Given the description of an element on the screen output the (x, y) to click on. 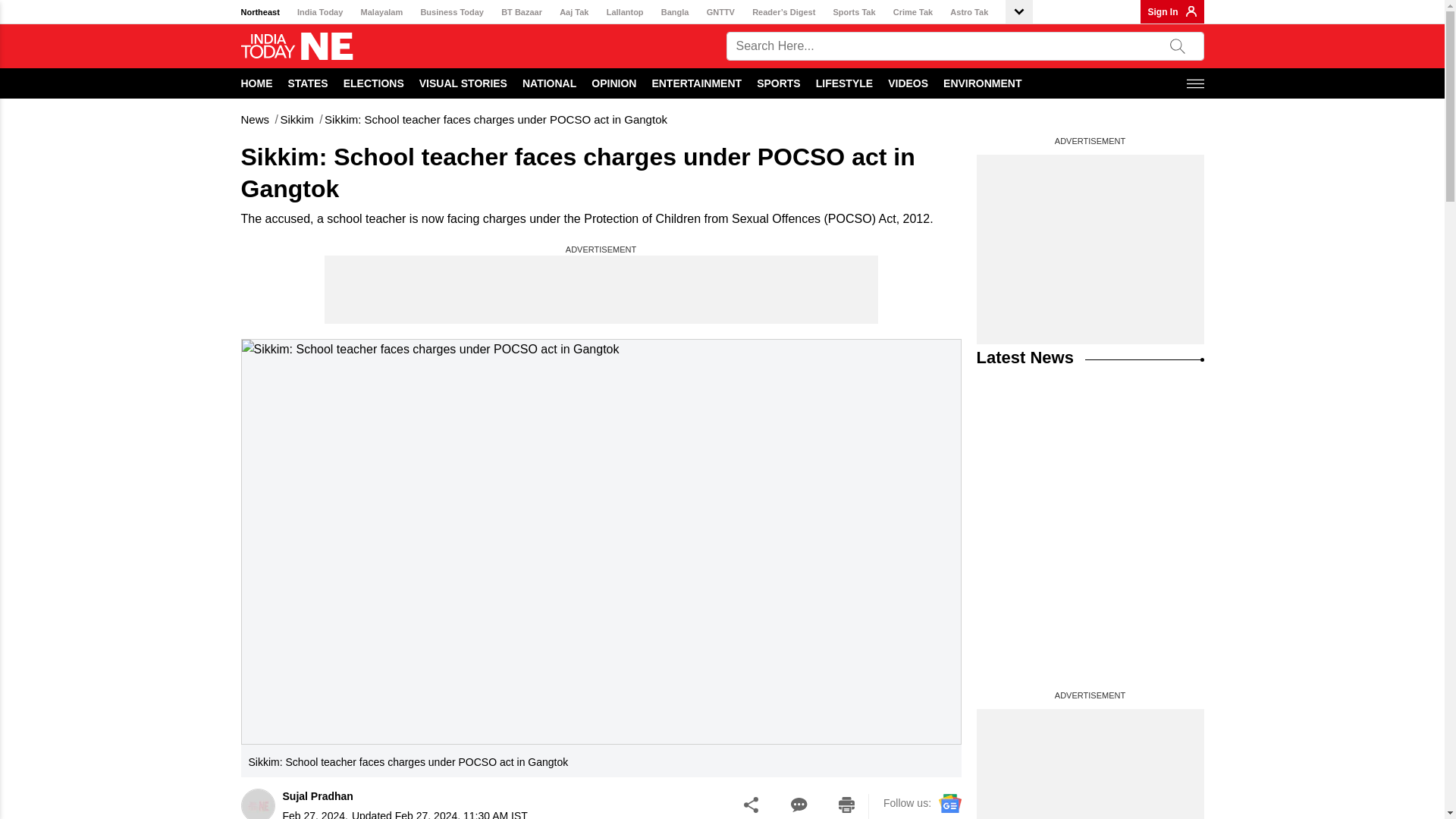
India Today (319, 12)
HOME (257, 82)
GNTTV (720, 12)
Astro Tak (969, 12)
Crime Tak (913, 12)
Bangla (674, 12)
VISUAL STORIES (462, 82)
Lallantop (625, 12)
Aaj Tak (573, 12)
BT Bazaar (520, 12)
Astro Tak (969, 12)
GNTTV (720, 12)
Business Today (451, 12)
Business Today (451, 12)
ELECTIONS (373, 82)
